Given the description of an element on the screen output the (x, y) to click on. 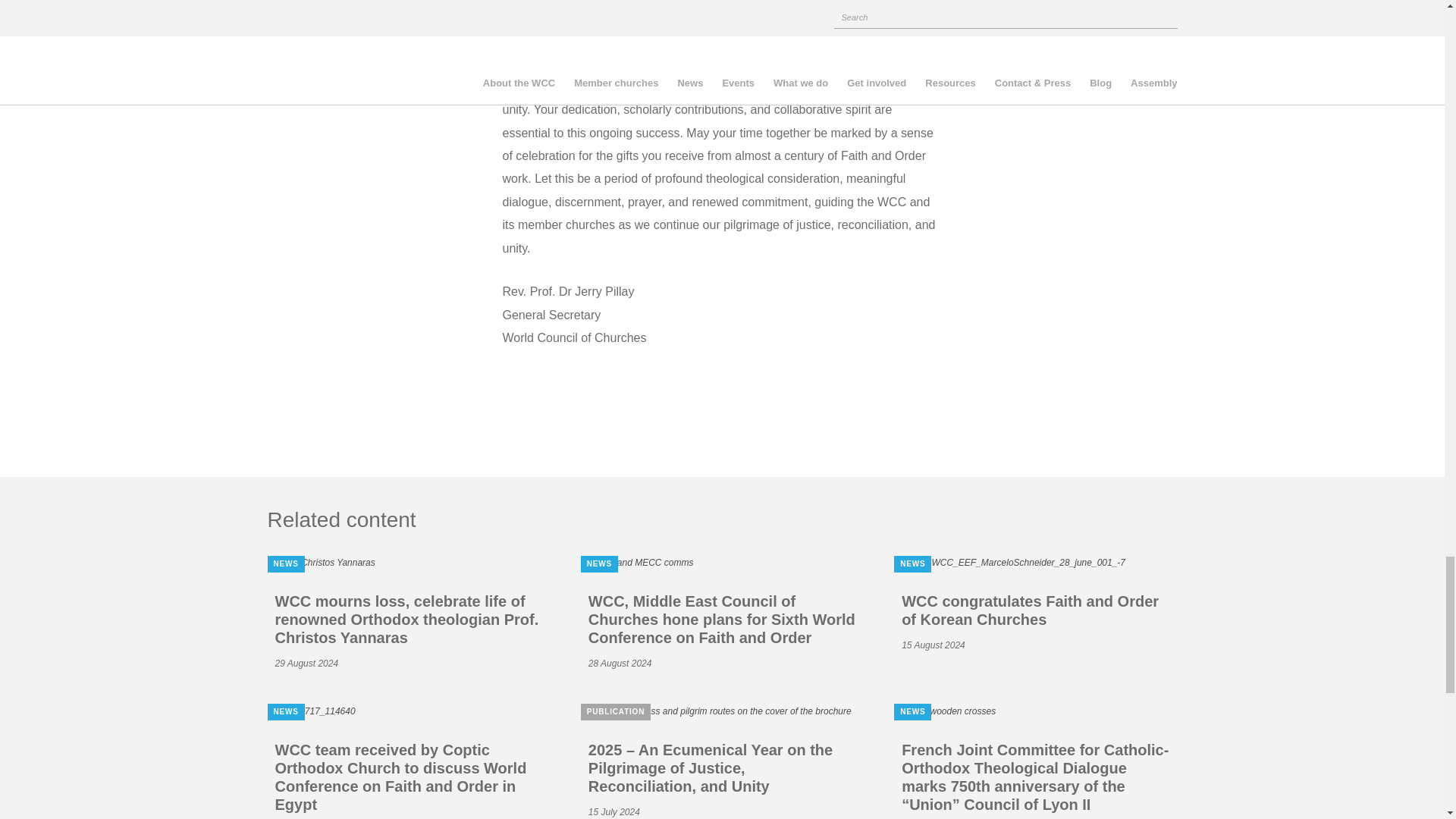
NEWS (1034, 563)
NEWS (408, 563)
NEWS (721, 563)
2025 Ecumenical Year Cover (715, 711)
